Given the description of an element on the screen output the (x, y) to click on. 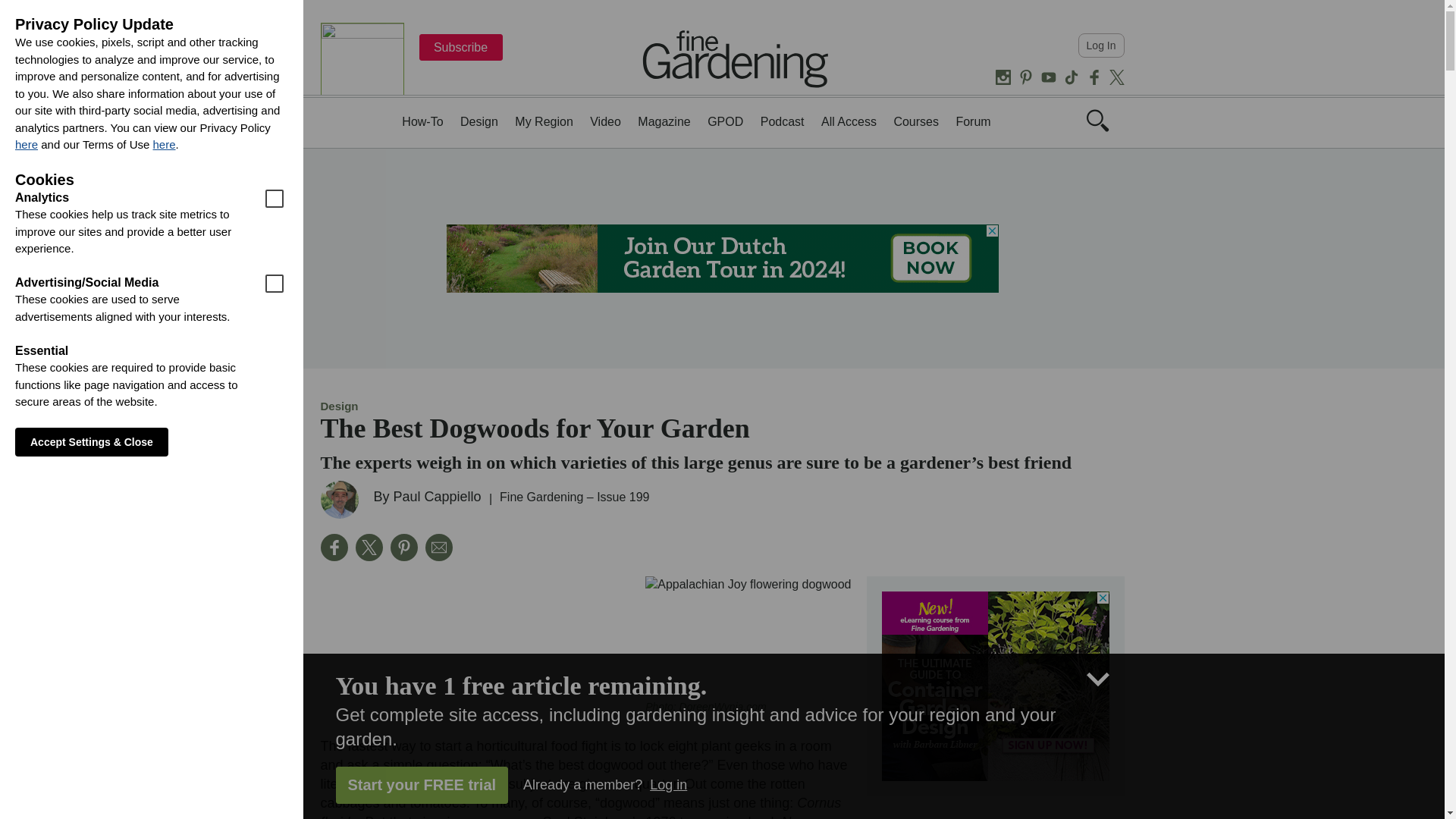
Video (605, 121)
Podcast (782, 121)
Magazine (663, 121)
3rd party ad content (994, 686)
Log In (1101, 45)
My Region (543, 121)
3rd party ad content (721, 258)
Twitter (1116, 77)
GPOD (724, 121)
Courses (916, 121)
Subscribe (460, 47)
Open Search (1097, 119)
How-To (421, 121)
Facebook (333, 547)
Design (478, 121)
